Given the description of an element on the screen output the (x, y) to click on. 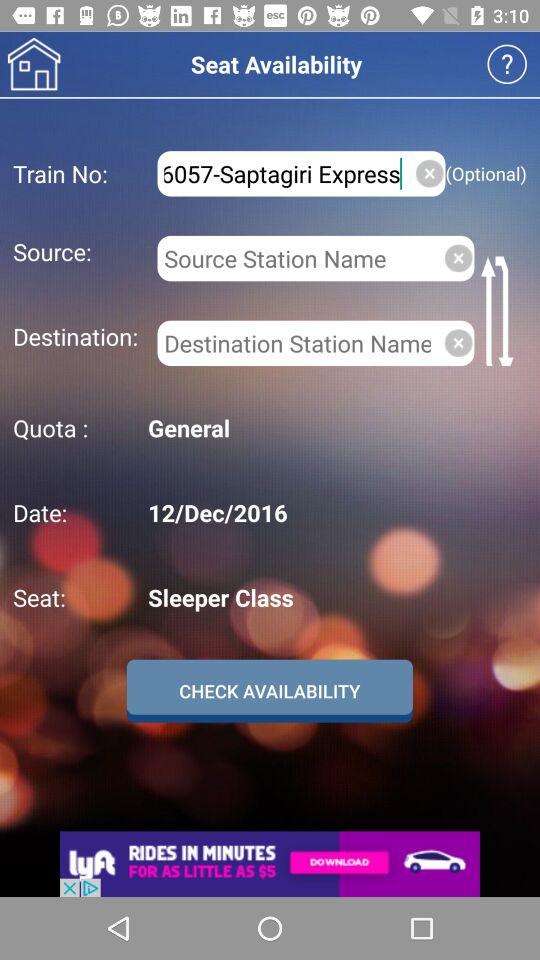
enter destination (296, 343)
